Given the description of an element on the screen output the (x, y) to click on. 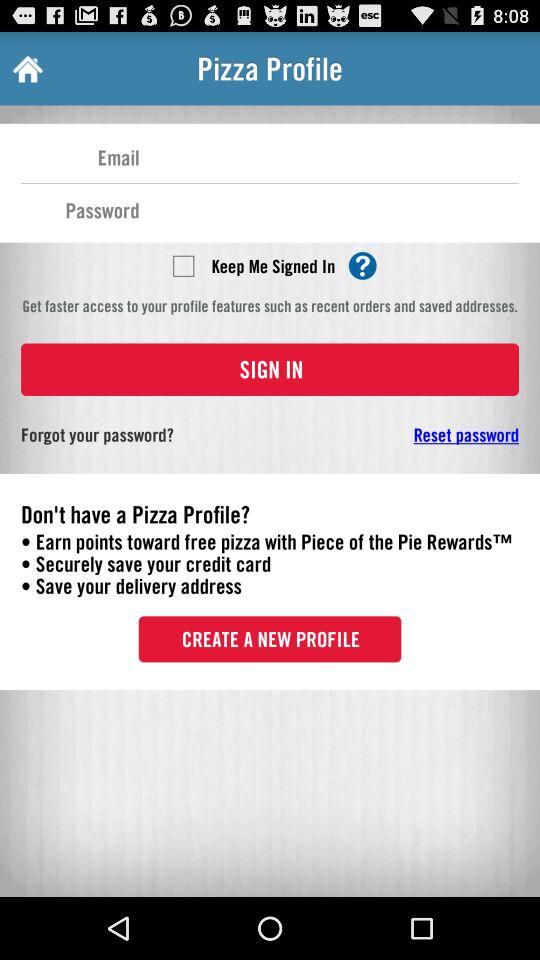
find more details (362, 265)
